Given the description of an element on the screen output the (x, y) to click on. 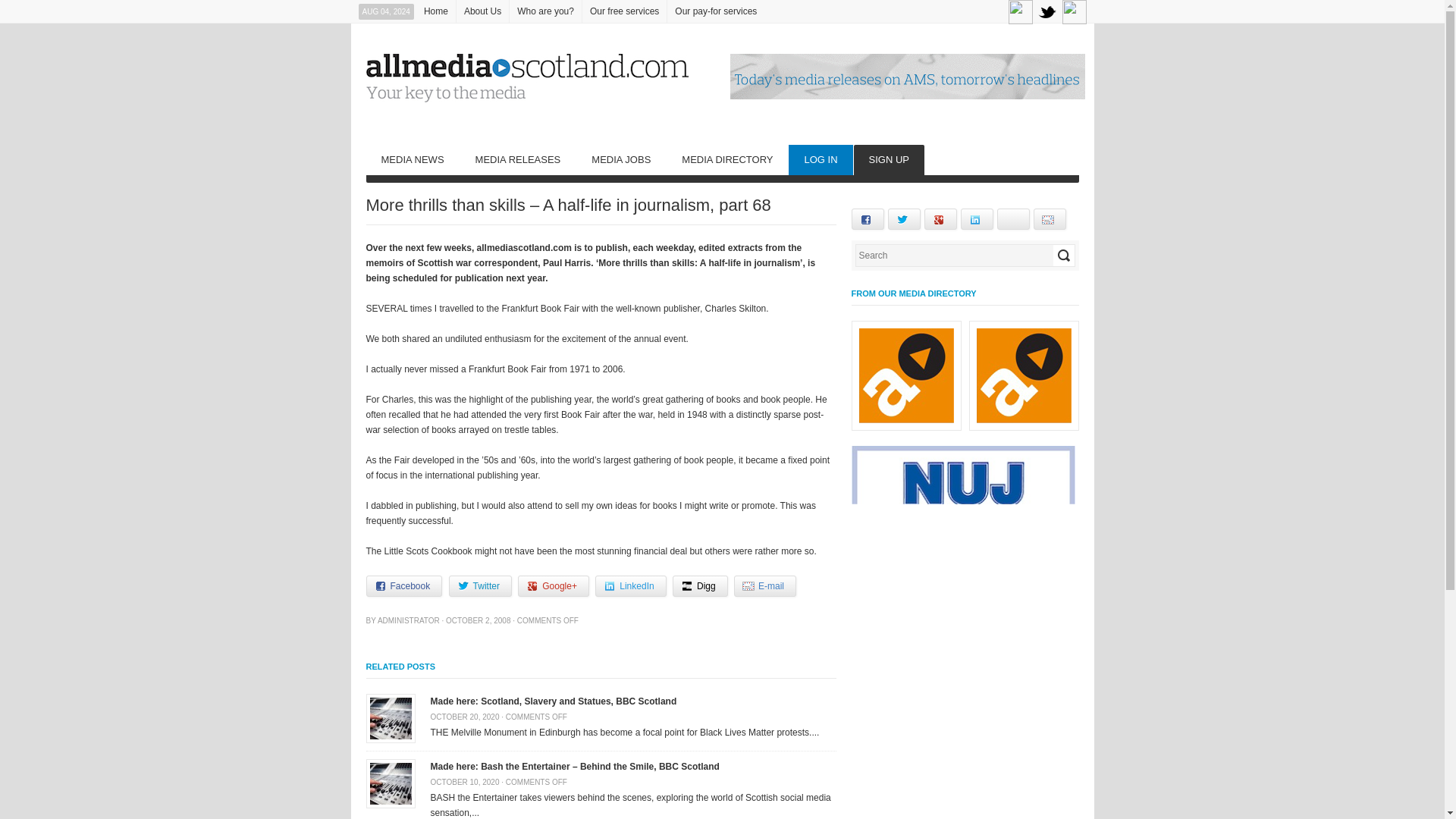
Share this article on Facebook (403, 586)
media release service, media release distribution (518, 159)
MEDIA NEWS (411, 159)
MEDIA JOBS (620, 159)
Home (435, 11)
Search (1063, 255)
Share this article on Digg (700, 586)
Our pay-for services (715, 11)
MEDIA RELEASES (518, 159)
About Us (482, 11)
Who are you? (544, 11)
Share this article on Twitter (480, 586)
Media jobs, media careers, jobs in the media (620, 159)
